Given the description of an element on the screen output the (x, y) to click on. 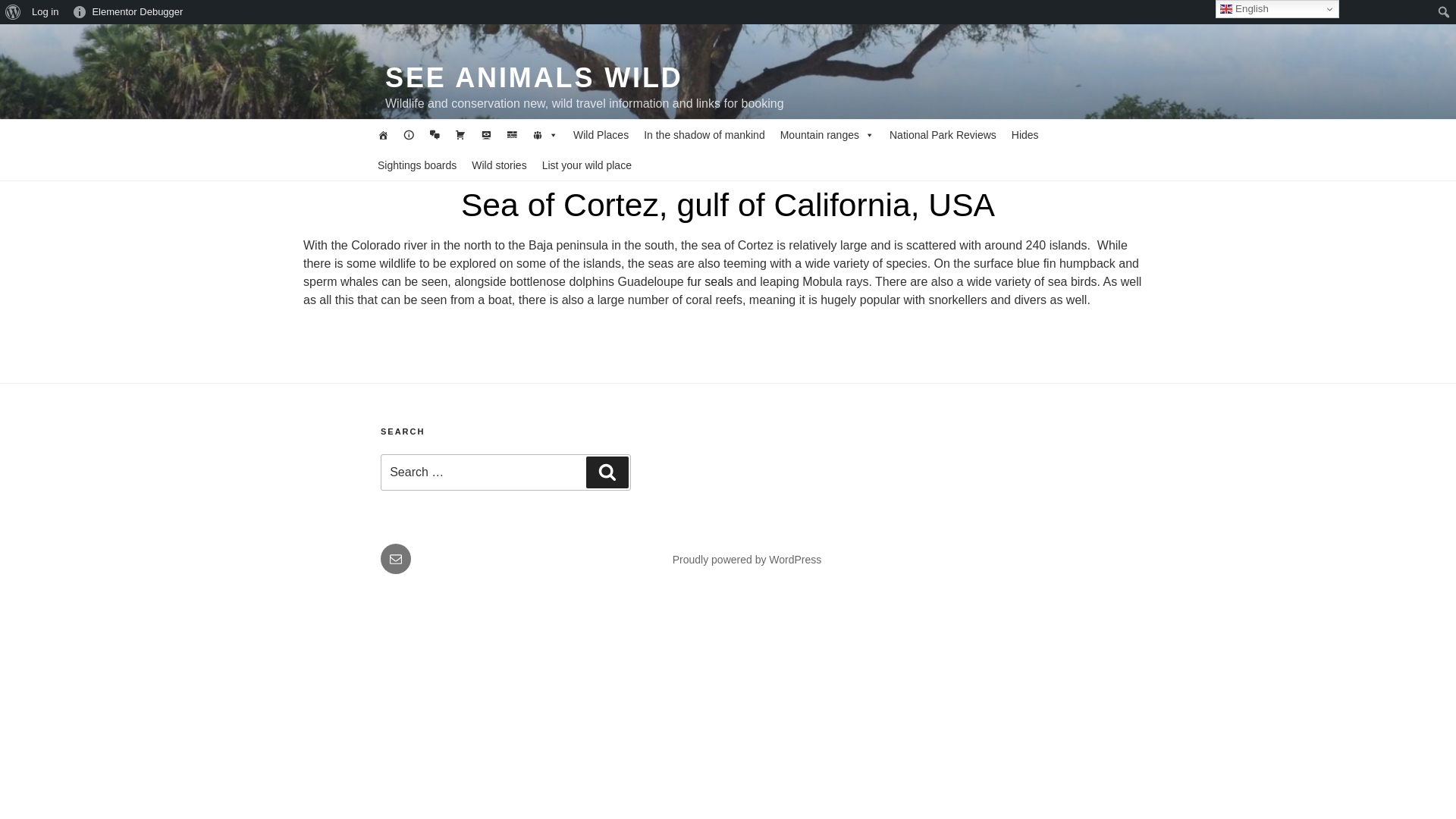
Mountain ranges (827, 134)
National Park Reviews (943, 134)
Log in (45, 12)
Hides (1025, 134)
Sightings boards (416, 164)
In the shadow of mankind (704, 134)
SEE ANIMALS WILD (533, 77)
Search (15, 12)
Wild Places (601, 134)
Fur seal (709, 281)
